Given the description of an element on the screen output the (x, y) to click on. 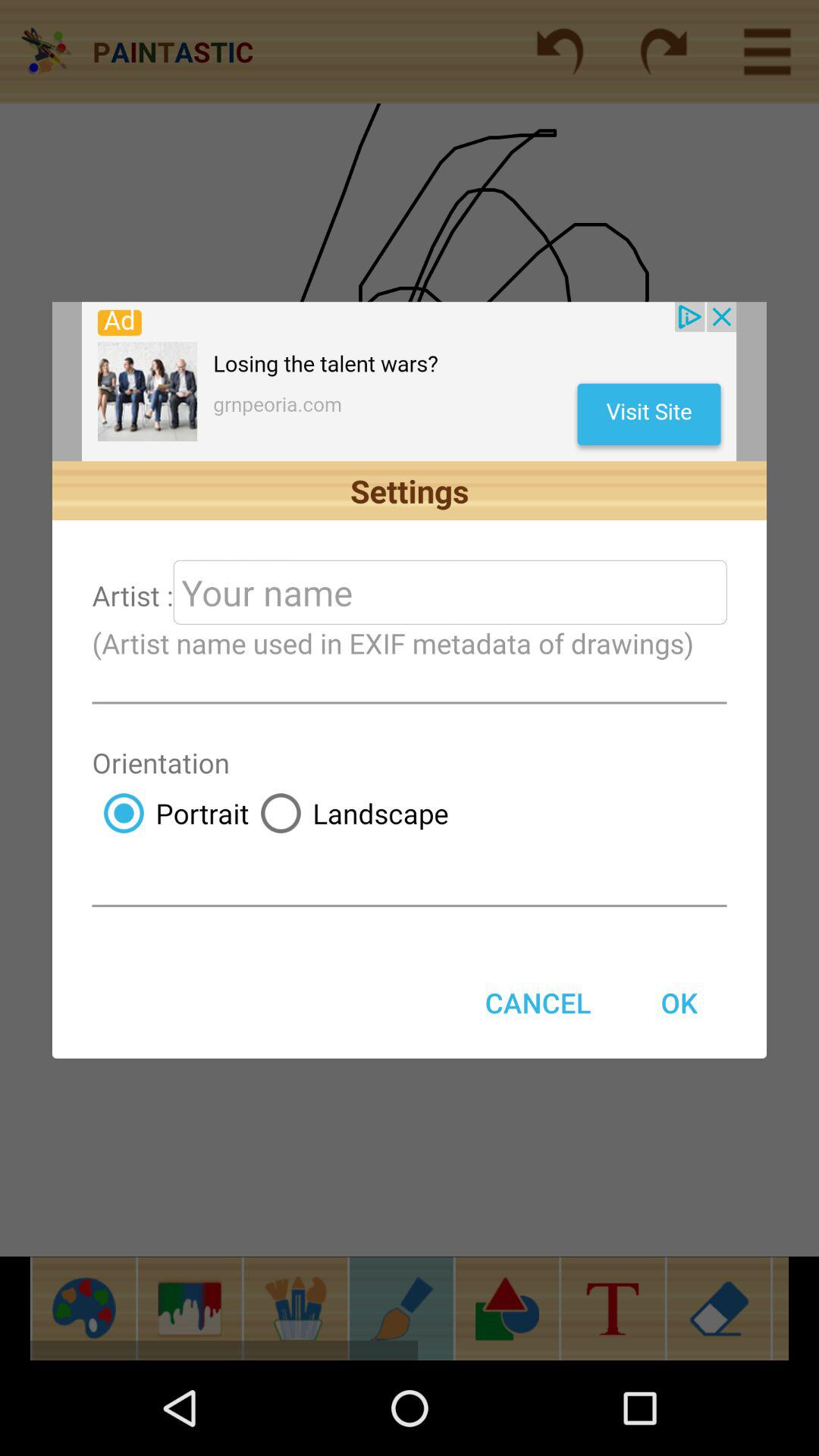
view advertisement (408, 381)
